Given the description of an element on the screen output the (x, y) to click on. 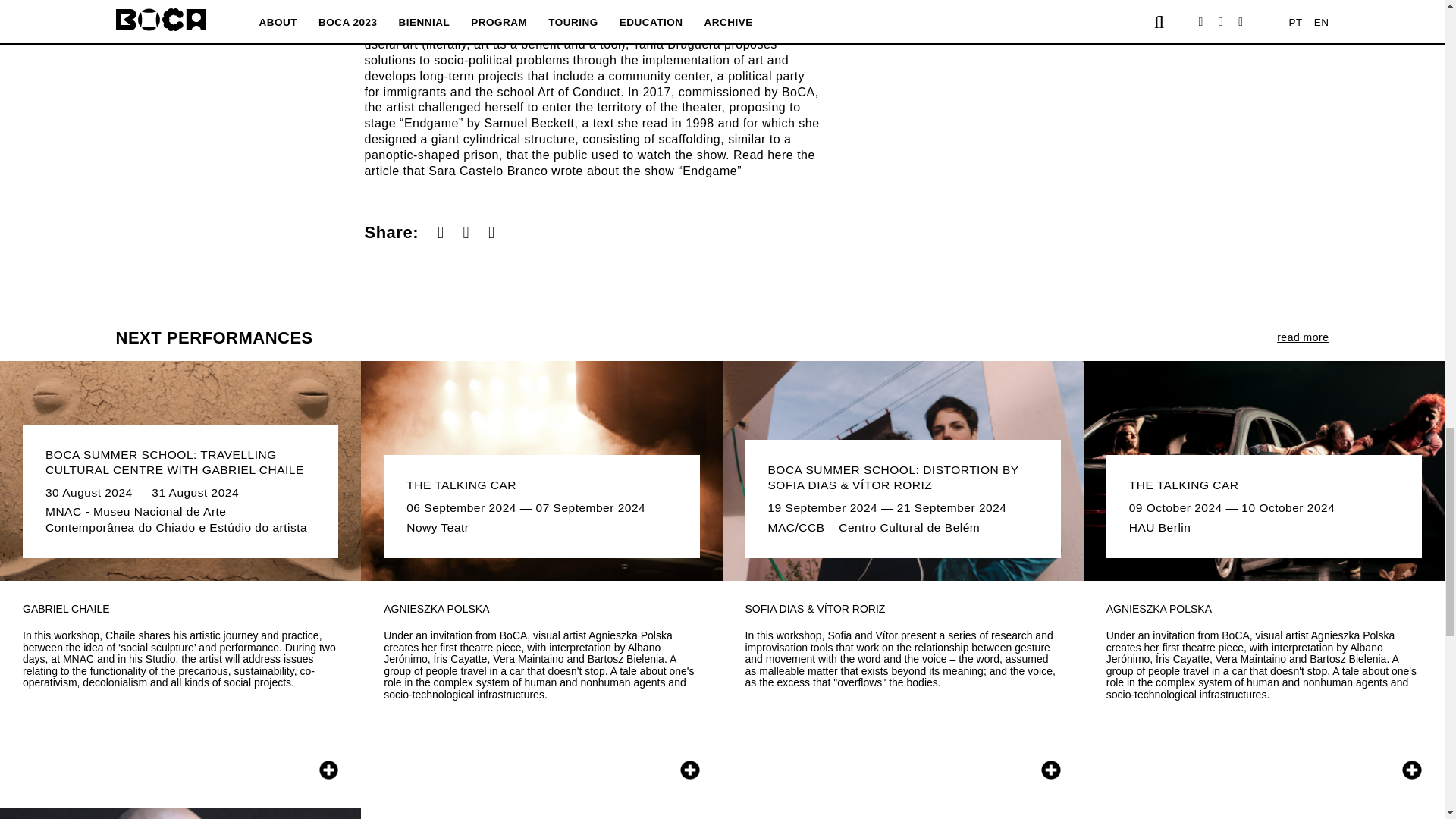
The Talking Car (541, 470)
